Given the description of an element on the screen output the (x, y) to click on. 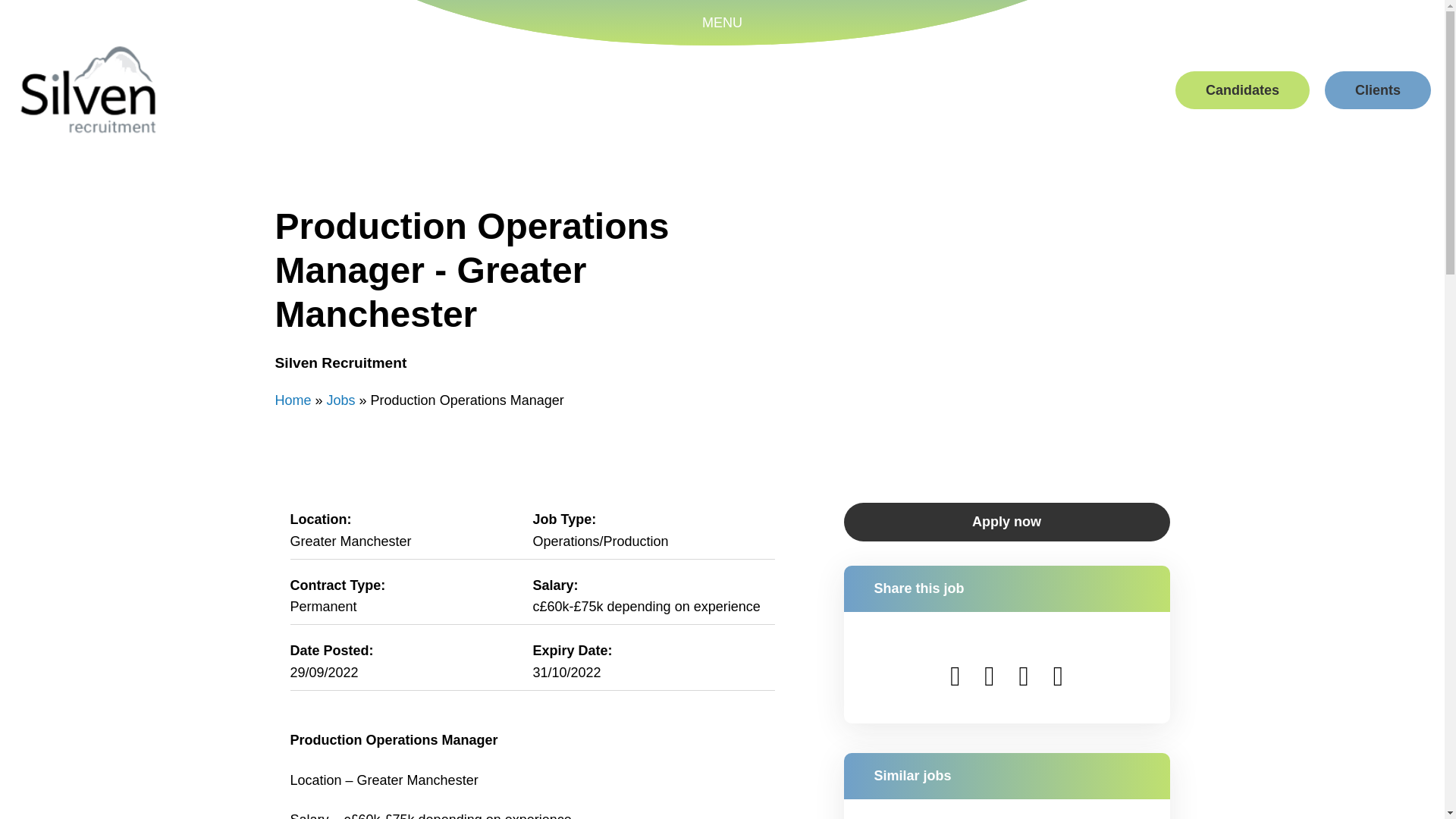
Apply now (1006, 521)
Home (293, 400)
Silven Recruitment (87, 90)
Jobs (340, 400)
open the menu (721, 22)
Candidates (1241, 89)
Clients (1377, 89)
